Given the description of an element on the screen output the (x, y) to click on. 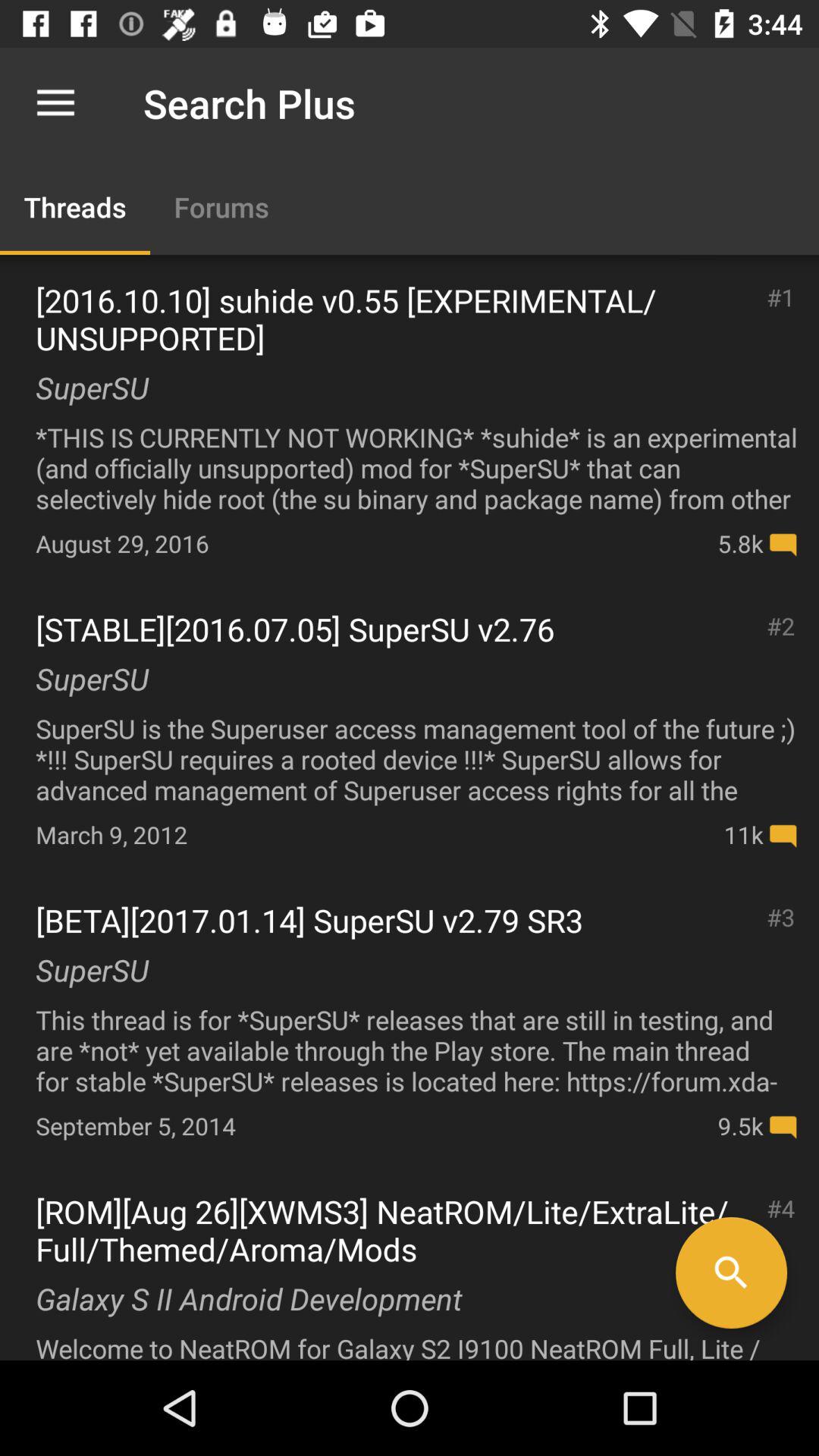
open icon above the threads item (55, 103)
